Given the description of an element on the screen output the (x, y) to click on. 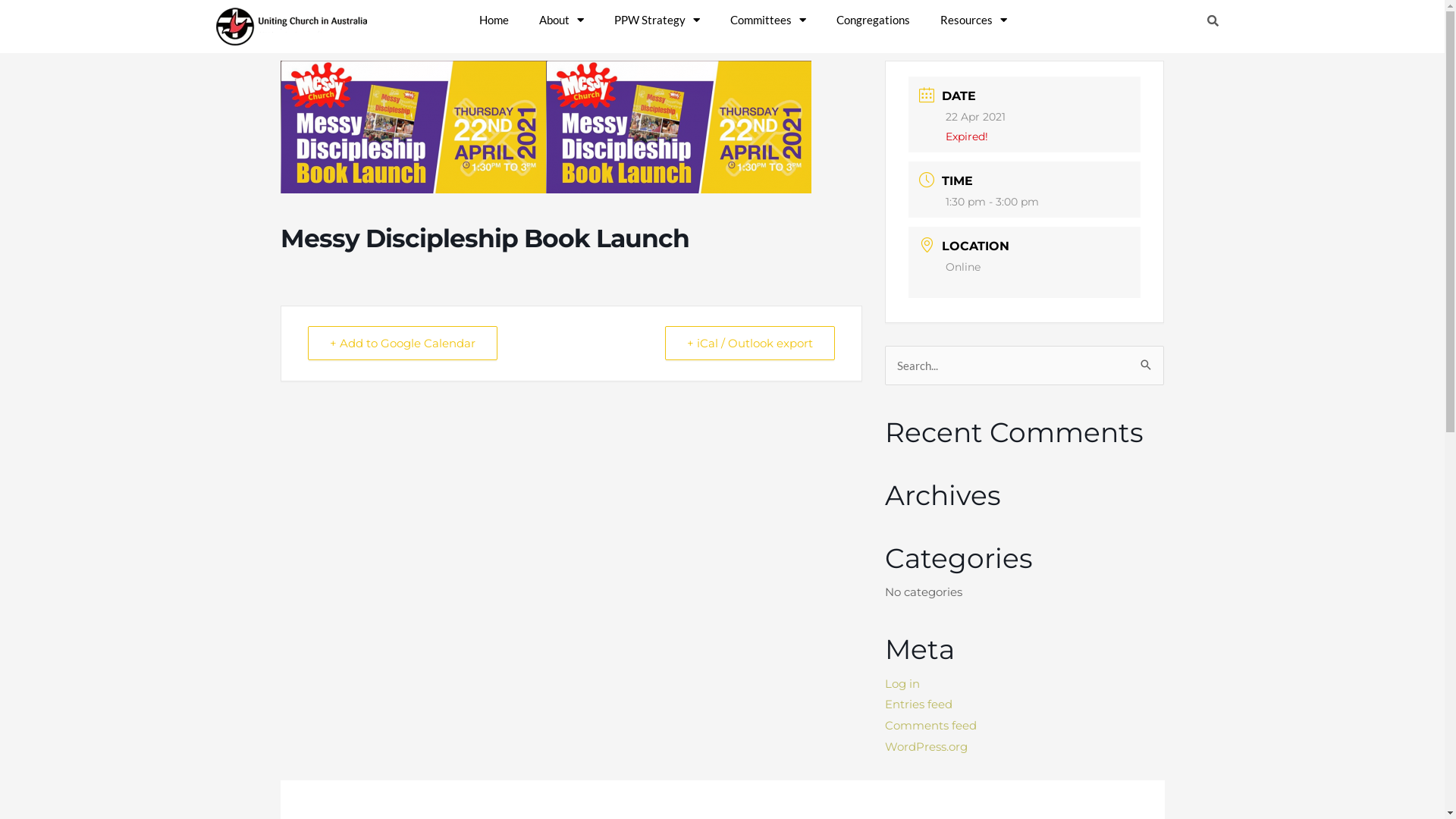
Log in Element type: text (901, 683)
Resources Element type: text (973, 19)
Committees Element type: text (767, 19)
PPW Strategy Element type: text (657, 19)
About Element type: text (560, 19)
WordPress.org Element type: text (925, 746)
+ Add to Google Calendar Element type: text (402, 343)
Search Element type: hover (1210, 20)
Congregations Element type: text (872, 19)
Home Element type: text (494, 19)
+ iCal / Outlook export Element type: text (749, 343)
Search Element type: text (1139, 359)
Comments feed Element type: text (930, 725)
Entries feed Element type: text (918, 703)
